Given the description of an element on the screen output the (x, y) to click on. 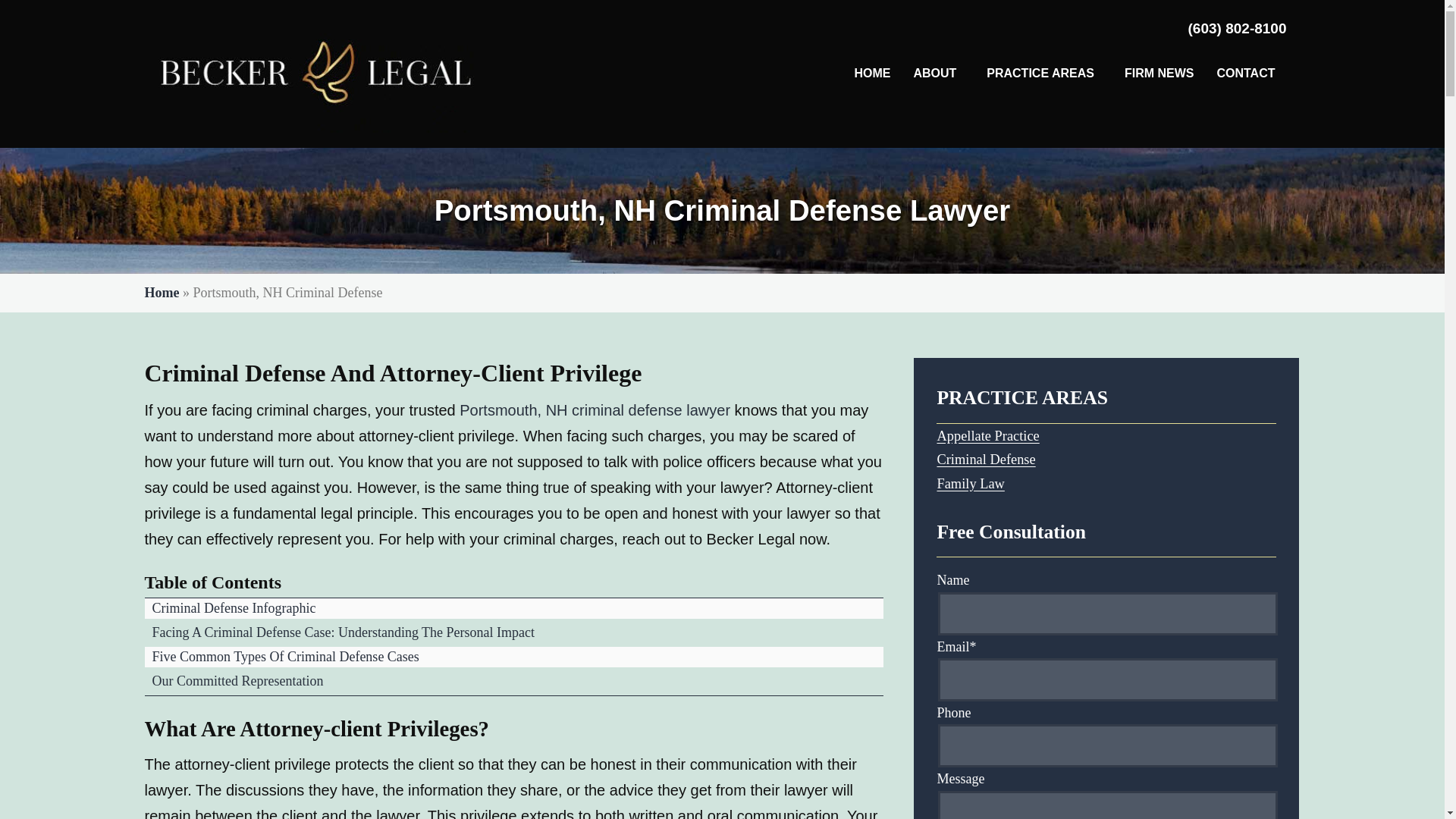
Home (161, 292)
FIRM NEWS (1159, 73)
CONTACT (1245, 73)
Criminal Defense Infographic (233, 607)
Appellate Practice (987, 435)
PRACTICE AREAS (1044, 73)
Our Committed Representation (237, 680)
Criminal Defense (985, 459)
Portsmouth, NH criminal defense lawyer (595, 410)
ABOUT (938, 73)
Family Law (970, 483)
Five Common Types Of Criminal Defense Cases (285, 656)
HOME (872, 73)
